Given the description of an element on the screen output the (x, y) to click on. 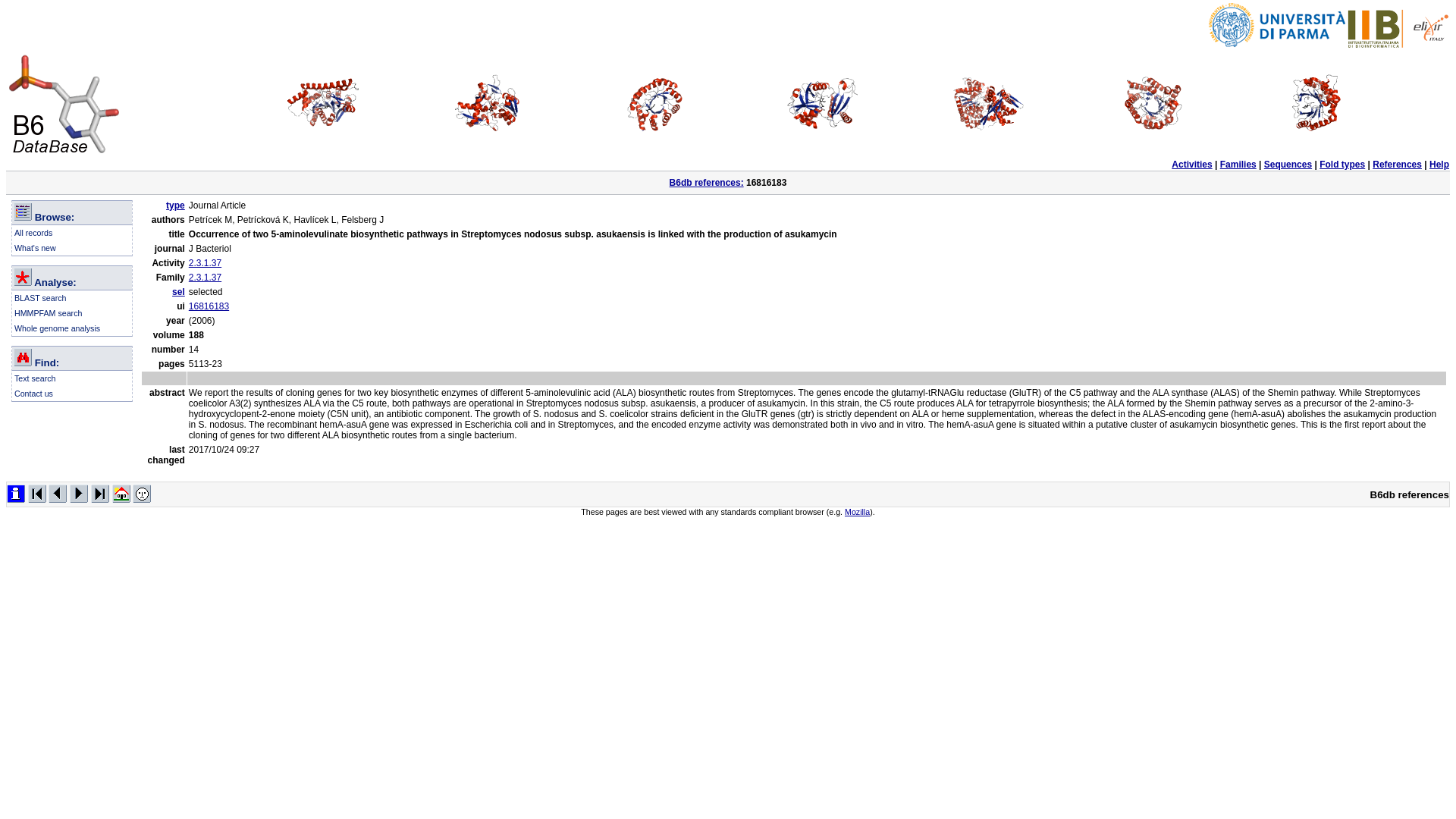
view how record was changing over time (15, 493)
2.3.1.37 (205, 262)
FOLD TYPE IV (822, 102)
2.3.1.37 (205, 276)
FOLD TYPE III (656, 102)
Contact us (33, 393)
Sequences (1287, 163)
browse (22, 211)
sel (177, 291)
HMMPFAM search (47, 312)
FIRST (36, 493)
Families (1238, 163)
Whole genome analysis (57, 327)
What's new (35, 247)
Fold types (1342, 163)
